Given the description of an element on the screen output the (x, y) to click on. 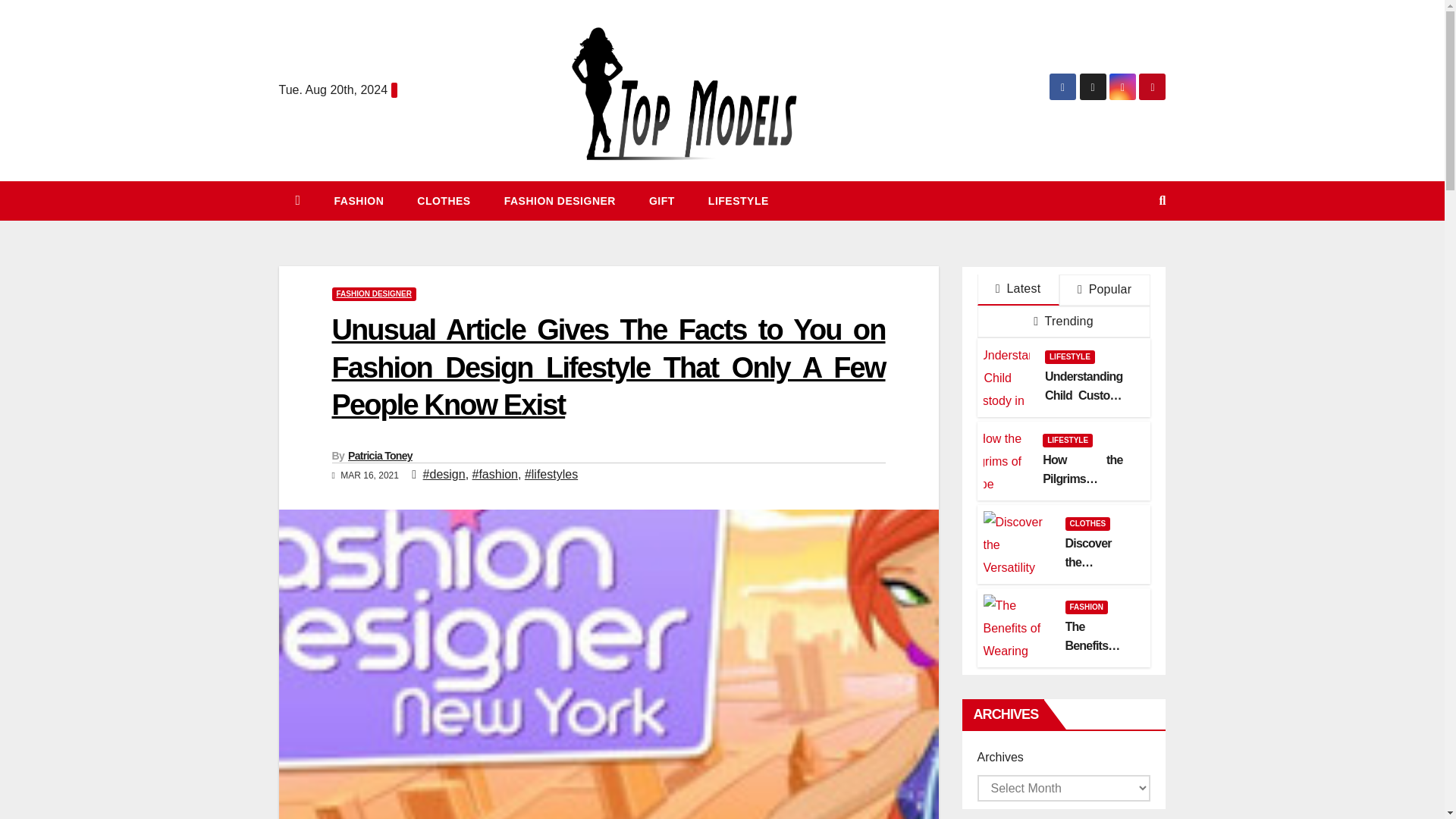
CLOTHES (443, 200)
Patricia Toney (379, 455)
Clothes (443, 200)
Lifestyle (738, 200)
FASHION DESIGNER (373, 294)
Fashion (359, 200)
Fashion Designer (559, 200)
LIFESTYLE (738, 200)
FASHION DESIGNER (559, 200)
